Given the description of an element on the screen output the (x, y) to click on. 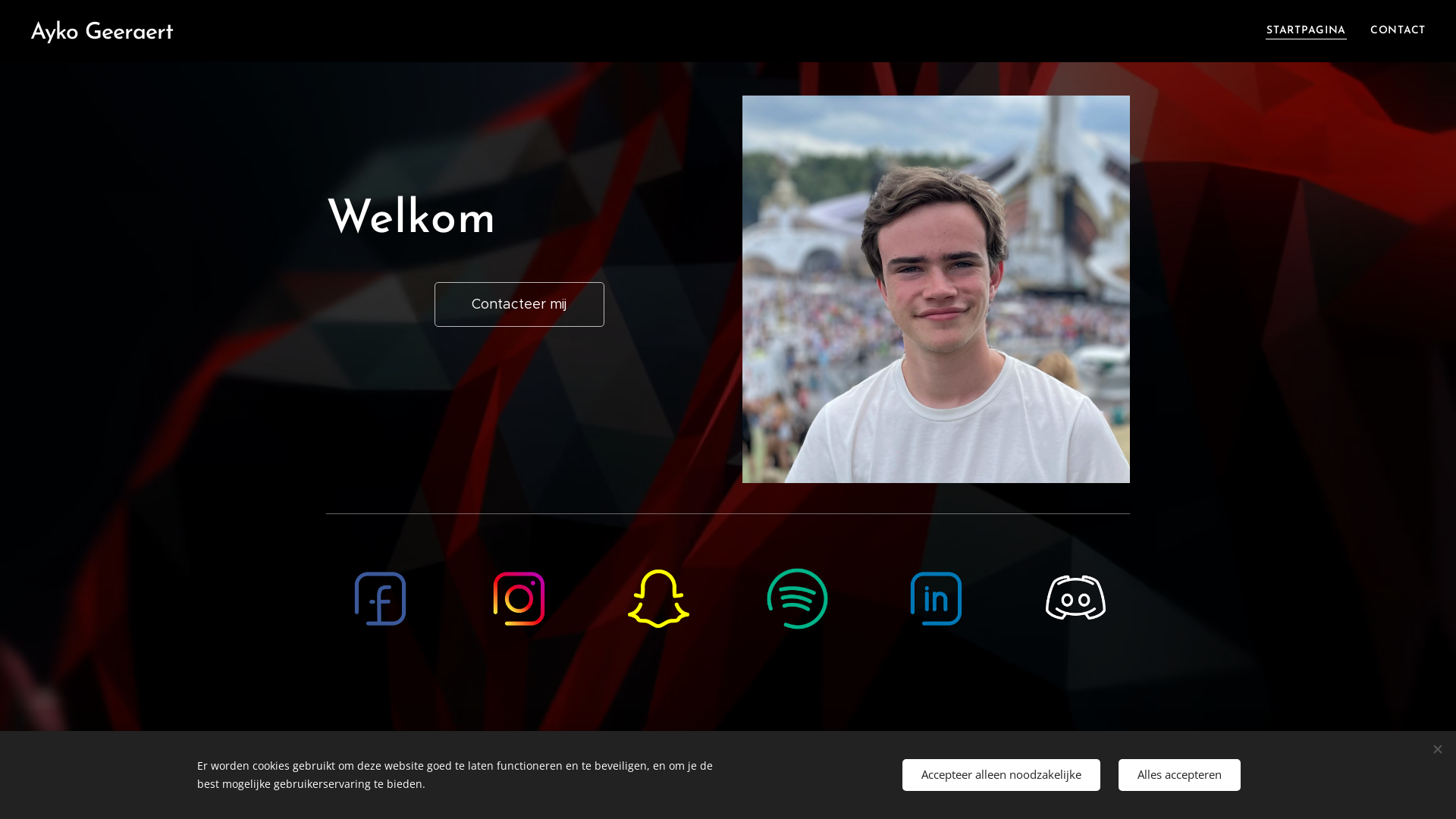
Accepteer alleen noodzakelijke Element type: text (1001, 774)
STARTPAGINA Element type: text (1310, 31)
Alles accepteren Element type: text (1179, 774)
CONTACT Element type: text (1391, 31)
Contacteer mij Element type: text (518, 304)
